Given the description of an element on the screen output the (x, y) to click on. 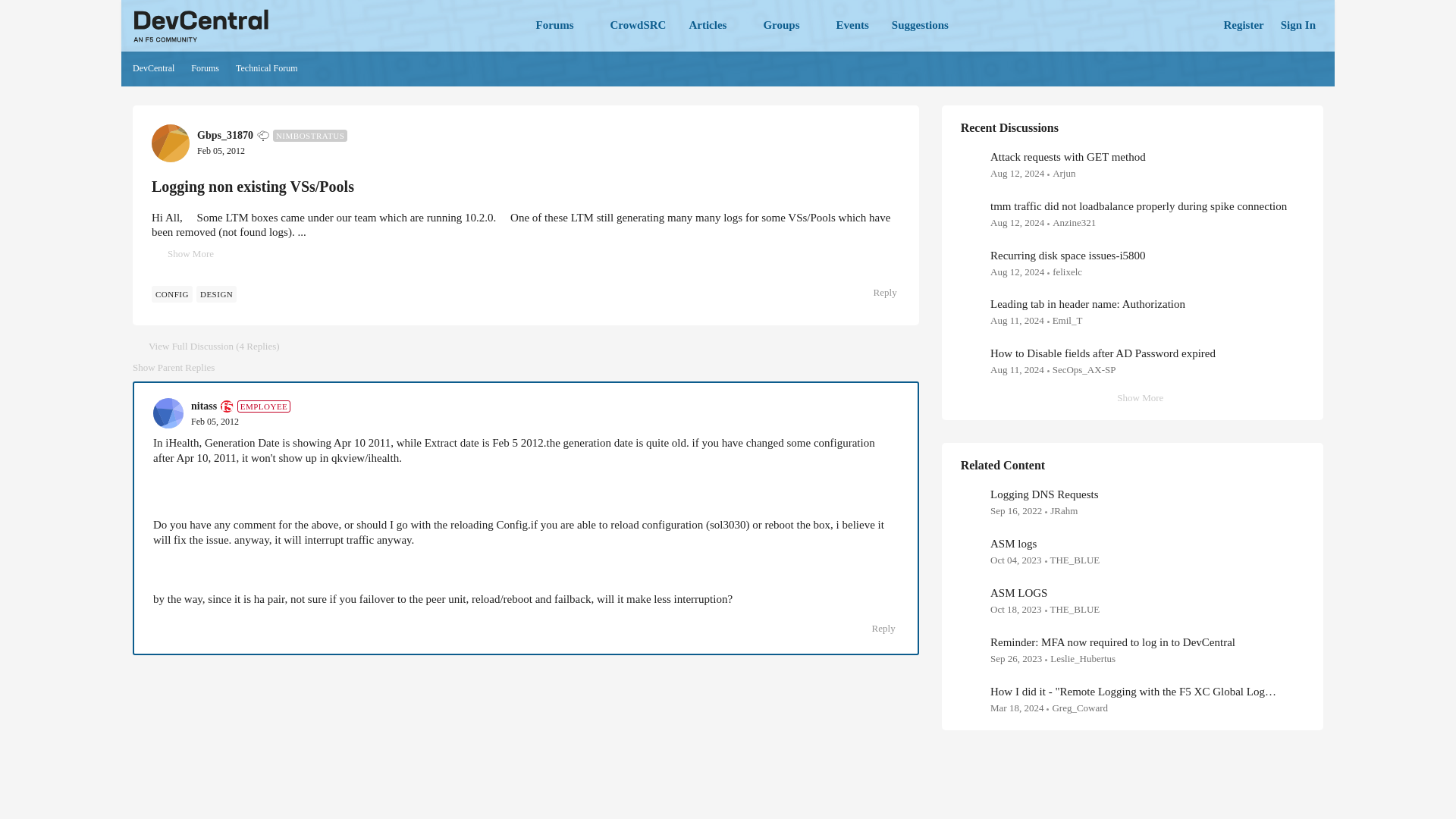
August 12, 2024 at 2:08 AM (1016, 222)
Recurring disk space issues-i5800 (1067, 255)
Show Parent Replies (173, 367)
Suggestions (919, 25)
February 5, 2012 at 6:00 AM (214, 421)
Arjun (1063, 173)
Logging DNS Requests (1044, 494)
CrowdSRC (638, 25)
Reply (876, 292)
Show More (1131, 398)
